Given the description of an element on the screen output the (x, y) to click on. 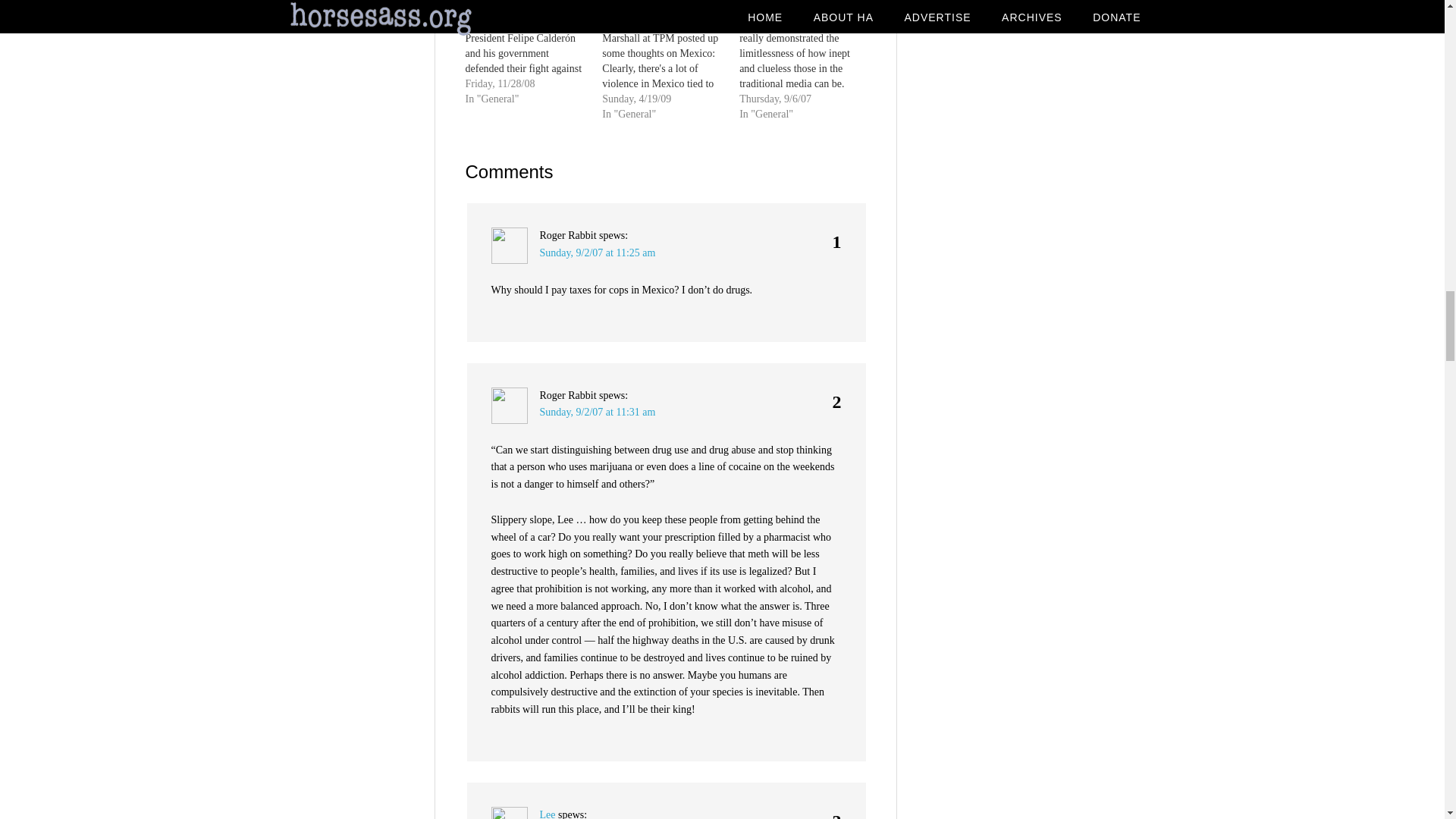
Reality and Spin Along the Border (670, 61)
Reality and Spin Along the Border (659, 6)
The View From Inside the Bubble (794, 6)
Reality and Spin Along the Border (659, 6)
The View From Inside the Bubble (807, 61)
The View From Inside the Bubble (794, 6)
Lee (548, 814)
War on the Border (533, 53)
